Given the description of an element on the screen output the (x, y) to click on. 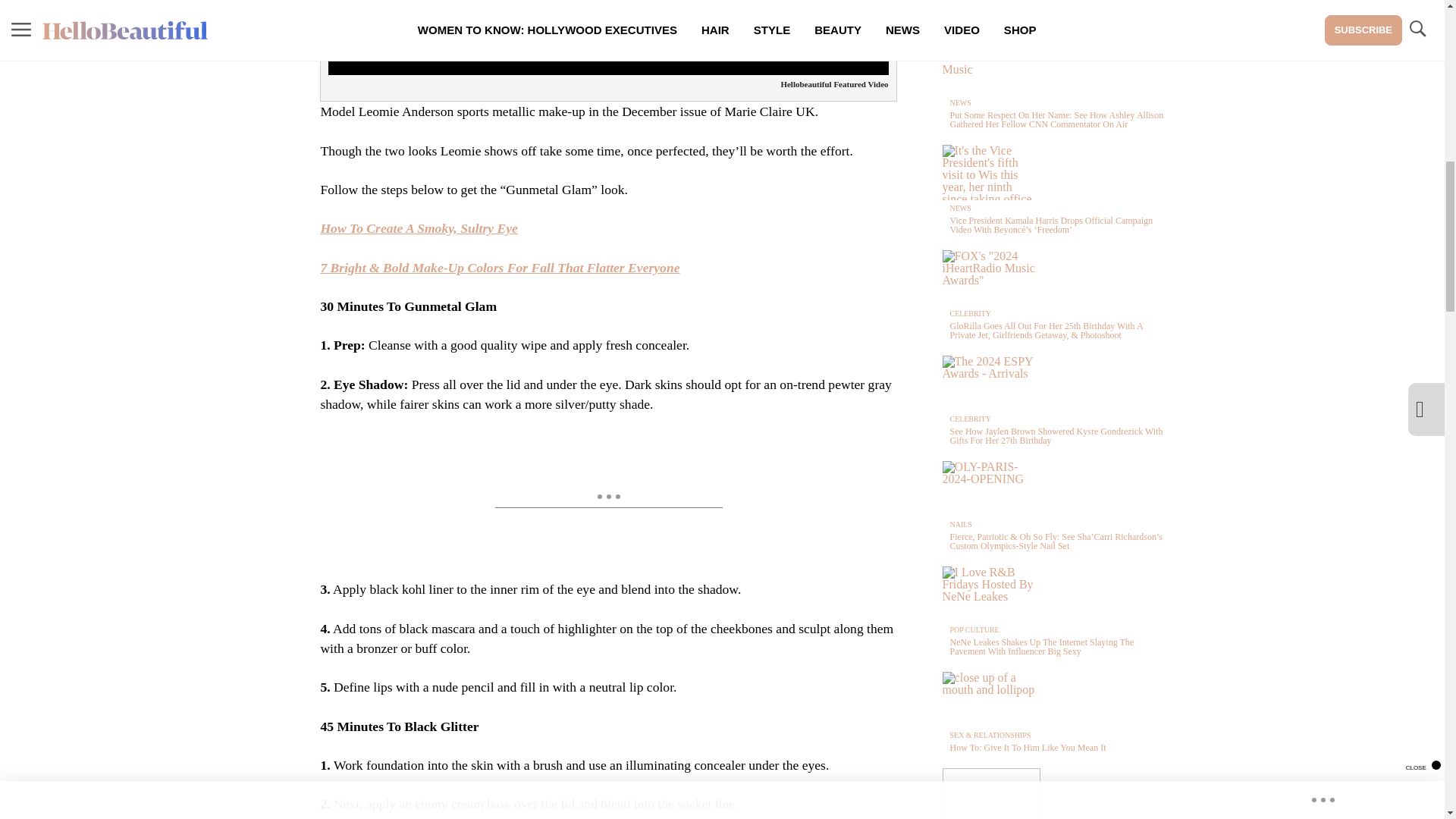
How To Create A Smoky, Sultry Eye (419, 227)
How To Create A Smoky, Sultry Eye (419, 227)
